Given the description of an element on the screen output the (x, y) to click on. 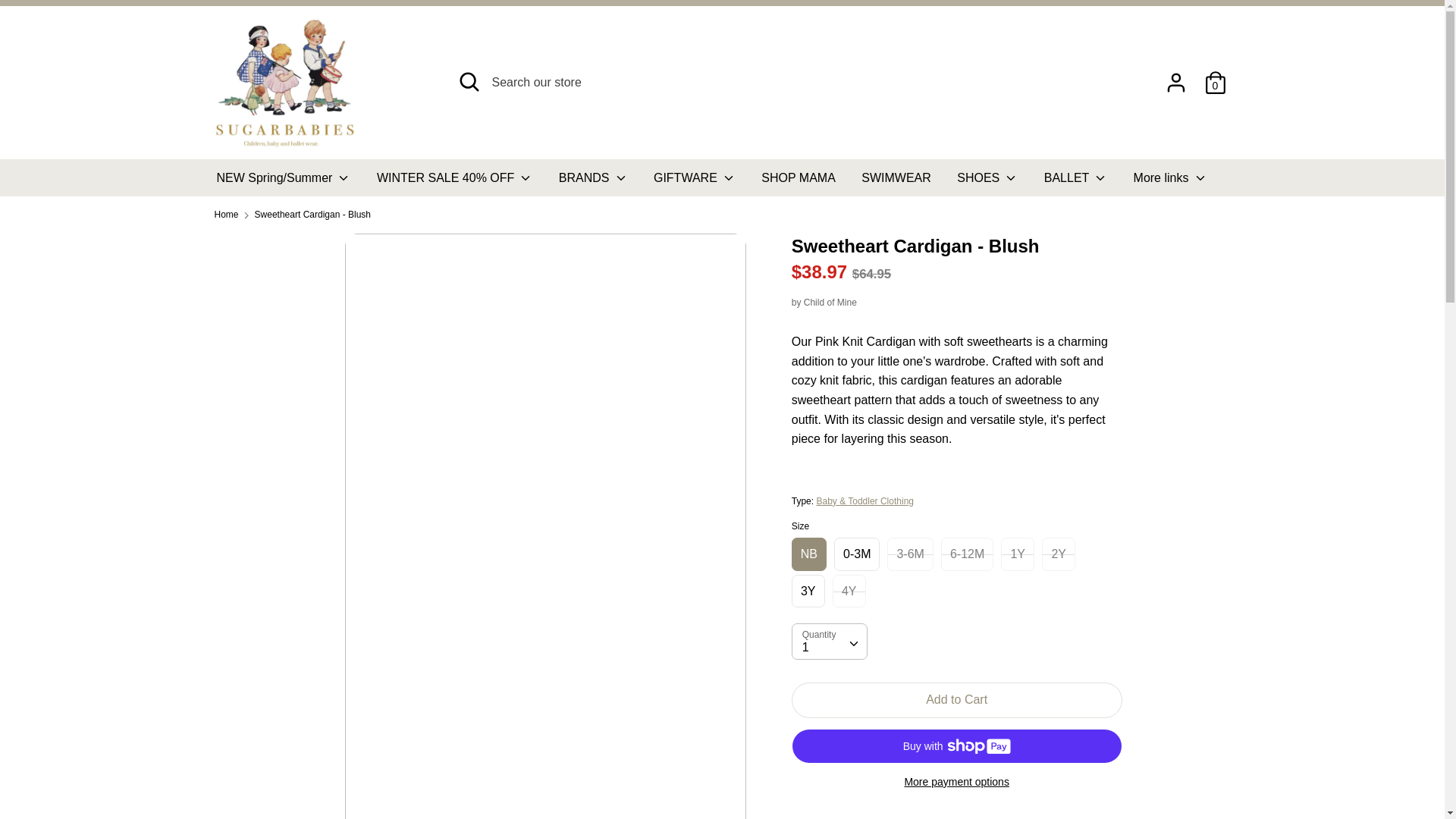
1 (829, 641)
0 (1214, 76)
